Given the description of an element on the screen output the (x, y) to click on. 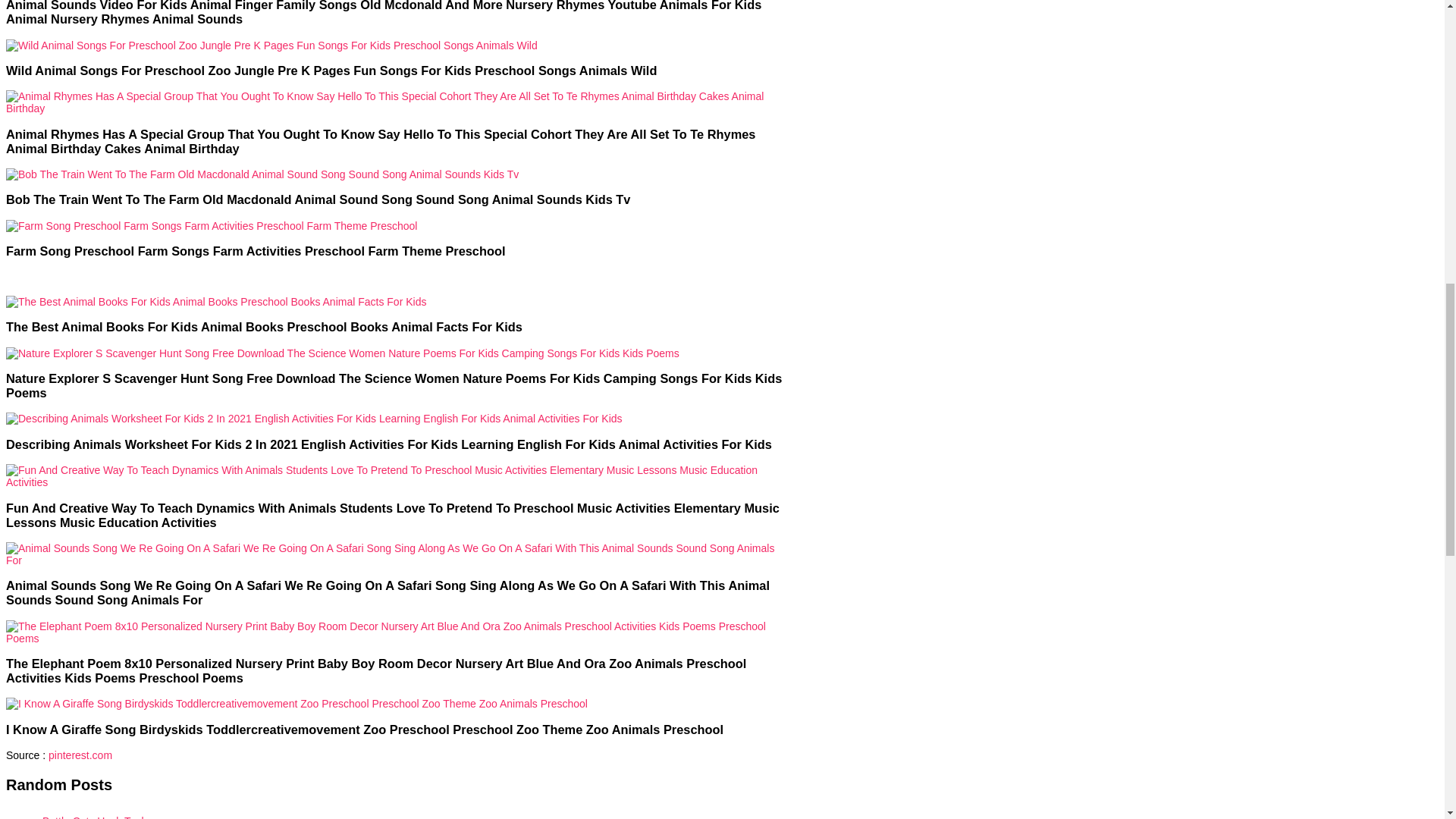
pinterest.com (80, 755)
Battle Cats Hack Tool (409, 814)
